Given the description of an element on the screen output the (x, y) to click on. 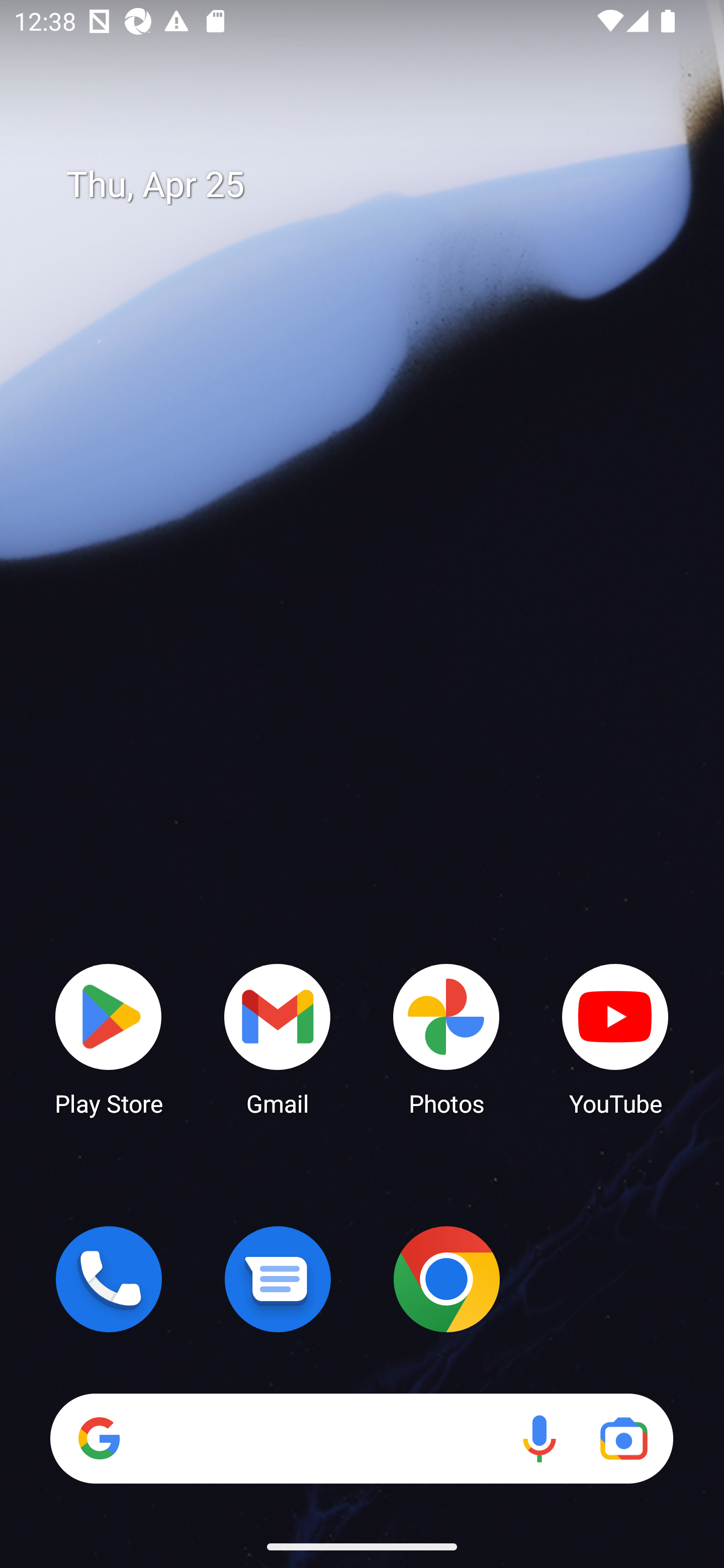
Thu, Apr 25 (375, 184)
Play Store (108, 1038)
Gmail (277, 1038)
Photos (445, 1038)
YouTube (615, 1038)
Phone (108, 1279)
Messages (277, 1279)
Chrome (446, 1279)
Search Voice search Google Lens (361, 1438)
Voice search (539, 1438)
Google Lens (623, 1438)
